Given the description of an element on the screen output the (x, y) to click on. 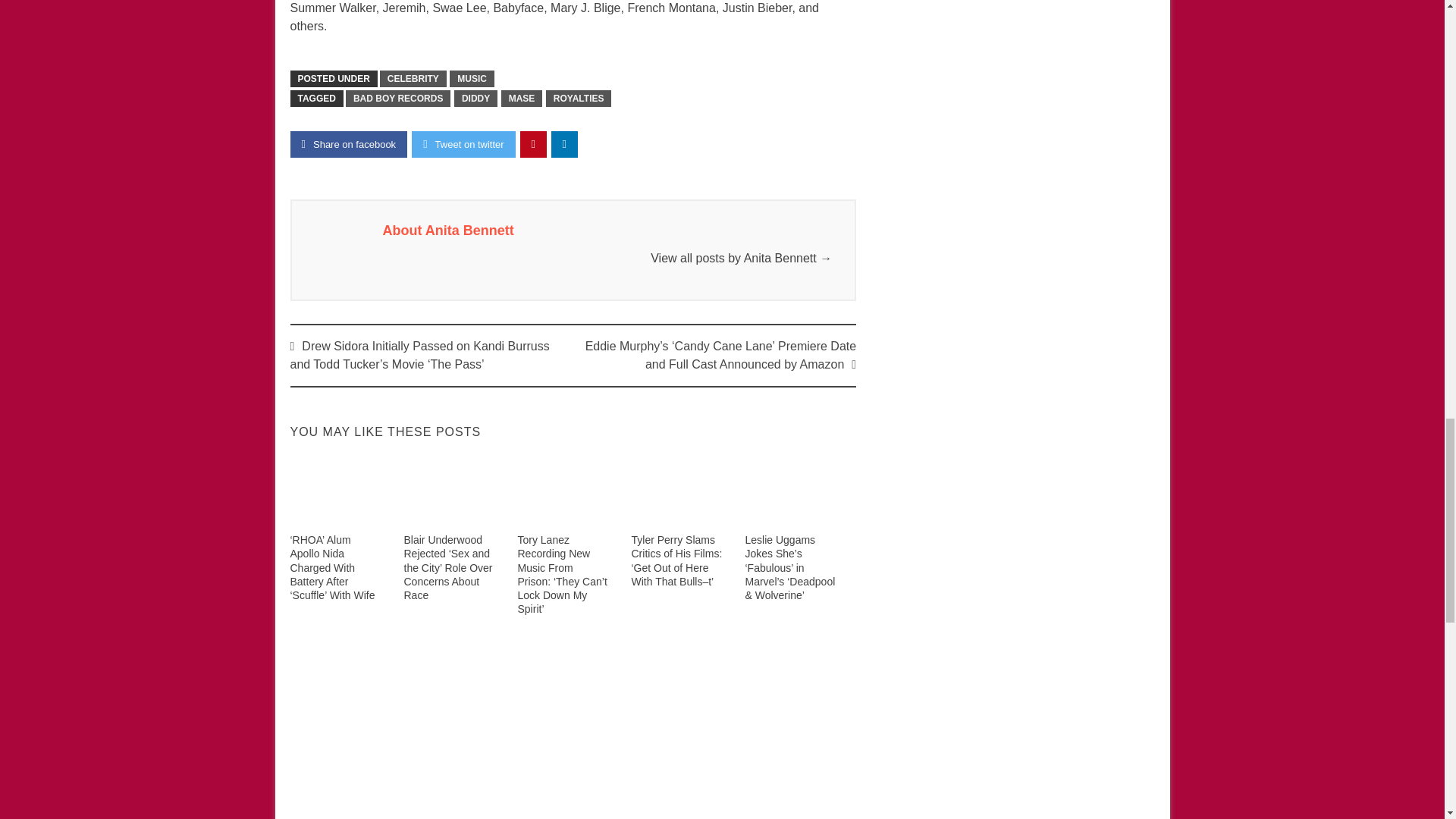
Share on facebook (348, 144)
BAD BOY RECORDS (397, 98)
ROYALTIES (578, 98)
DIDDY (475, 98)
MASE (521, 98)
Tweet on twitter (463, 144)
CELEBRITY (413, 78)
MUSIC (472, 78)
